Given the description of an element on the screen output the (x, y) to click on. 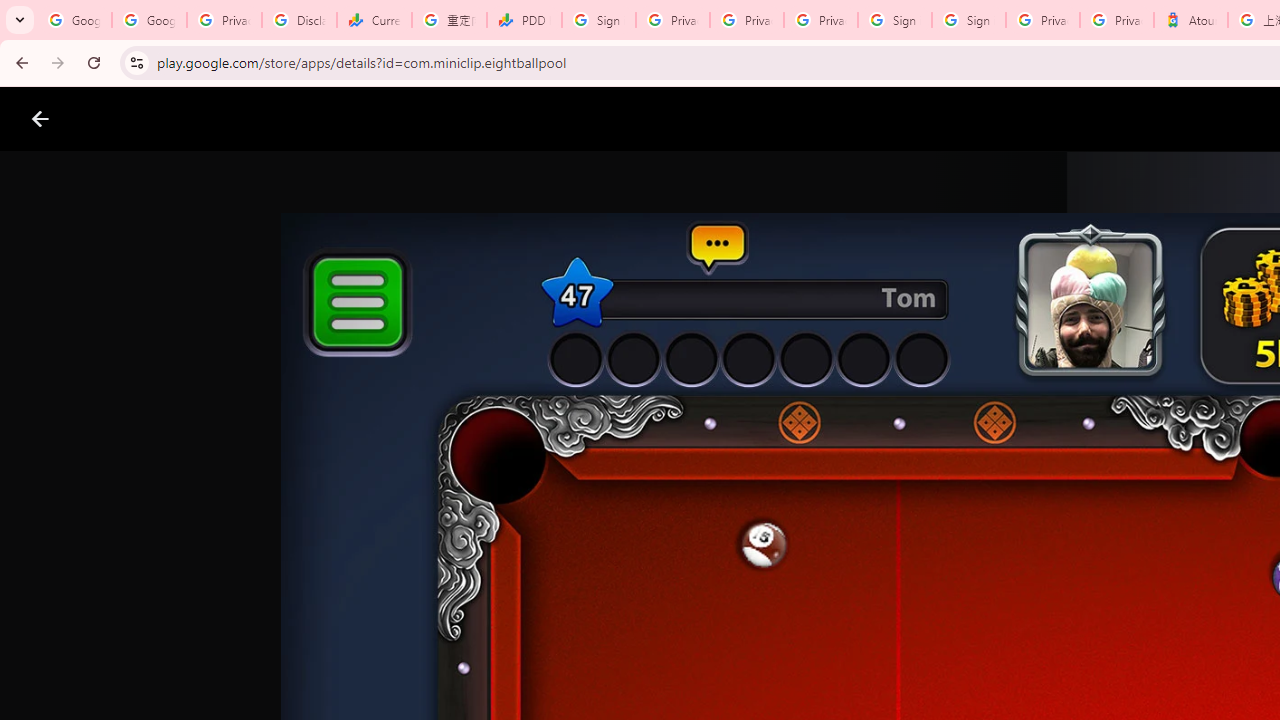
Privacy Checkup (820, 20)
Kids (385, 119)
Currencies - Google Finance (374, 20)
Close screenshot viewer (39, 119)
Sign in - Google Accounts (598, 20)
Google Workspace Admin Community (74, 20)
Google Play logo (111, 119)
Content rating (973, 656)
